Given the description of an element on the screen output the (x, y) to click on. 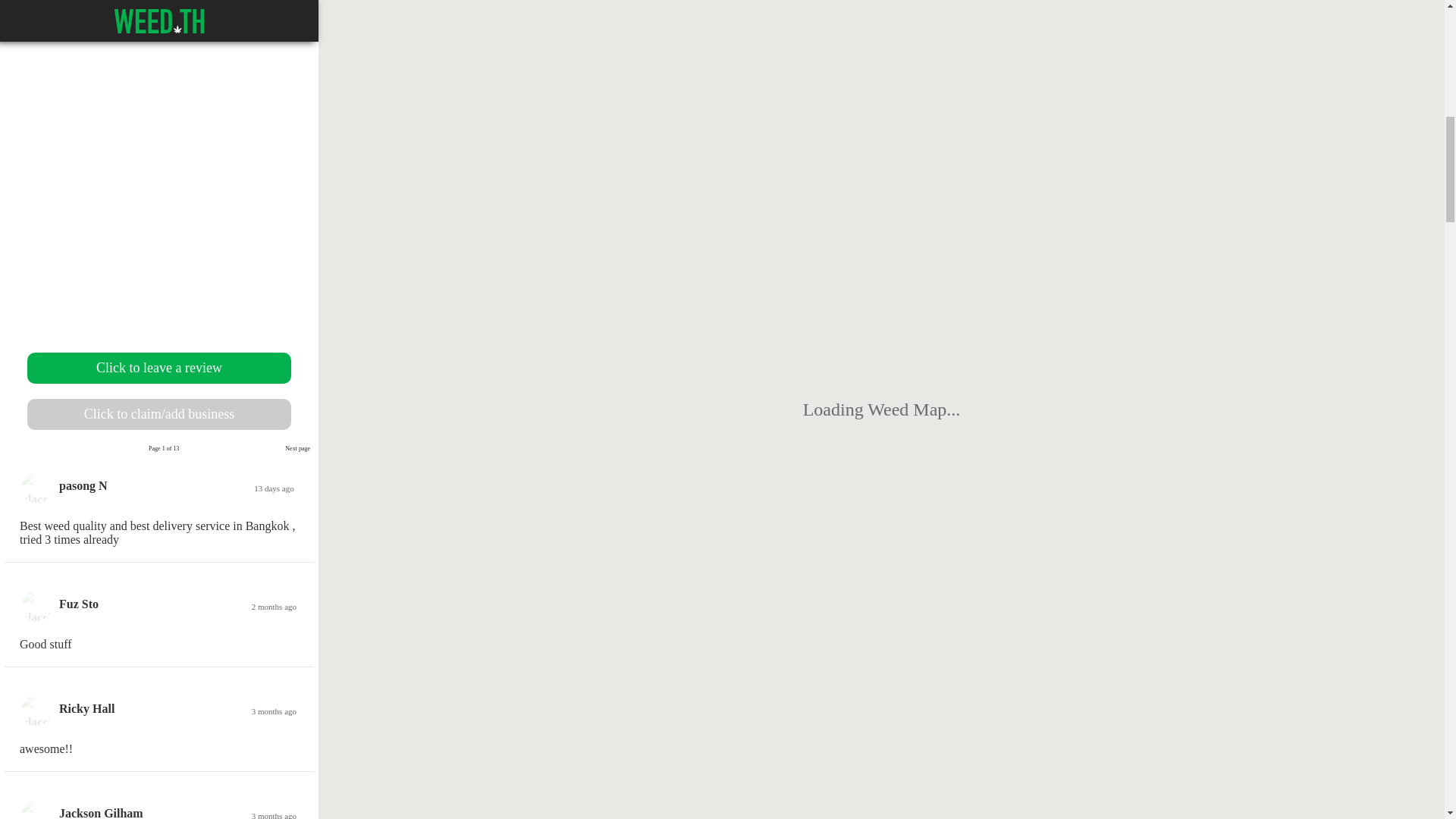
Ricky Hall (87, 707)
Next page (297, 448)
pasong N (83, 485)
Fuz Sto (79, 603)
Jackson Gilham (100, 812)
